Given the description of an element on the screen output the (x, y) to click on. 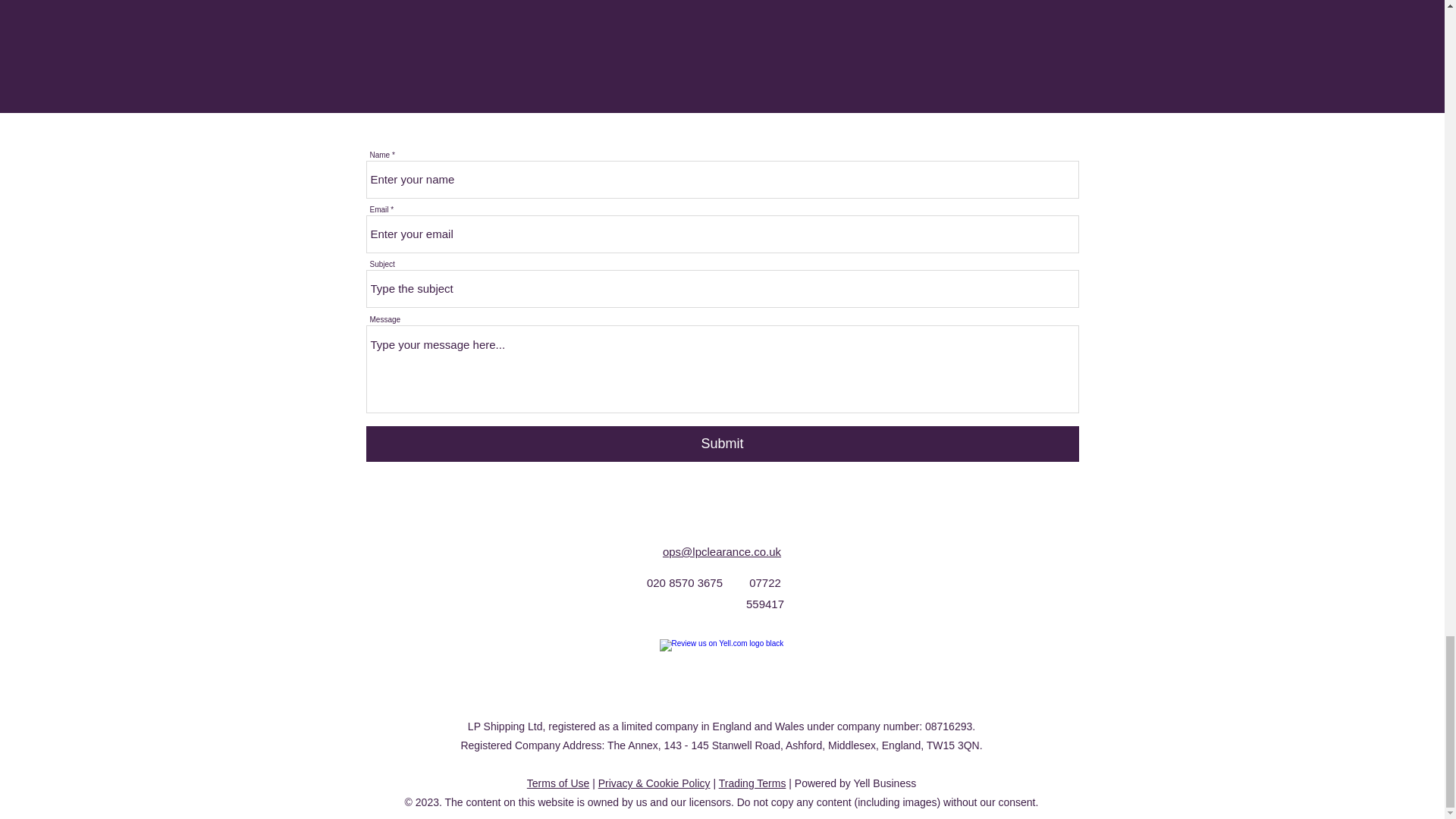
Terms of Use (558, 783)
Submit (721, 443)
Trading Terms (752, 783)
